Given the description of an element on the screen output the (x, y) to click on. 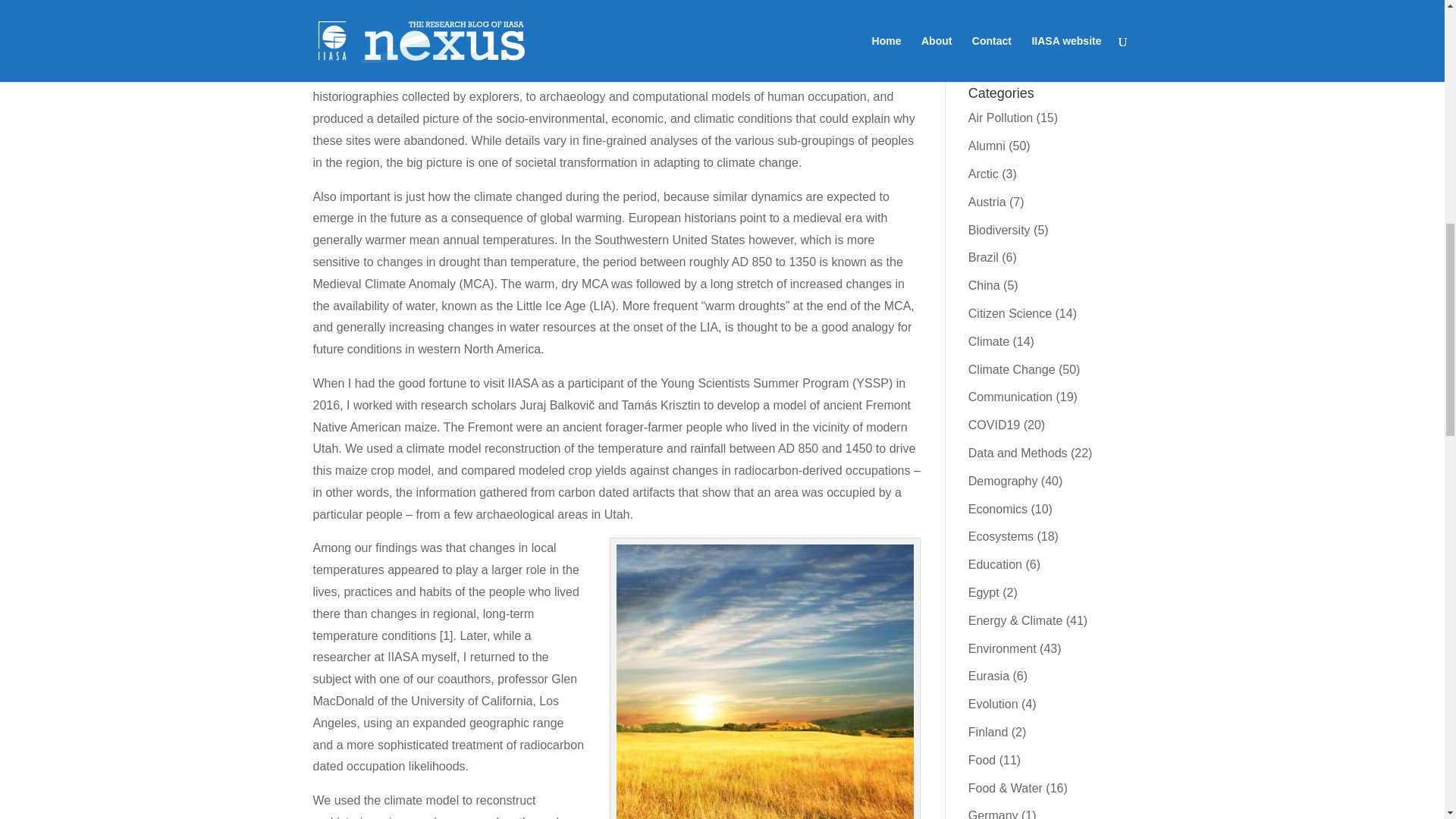
Air Pollution (1000, 117)
Austria (987, 201)
Alumni (987, 145)
Arctic (983, 173)
